Given the description of an element on the screen output the (x, y) to click on. 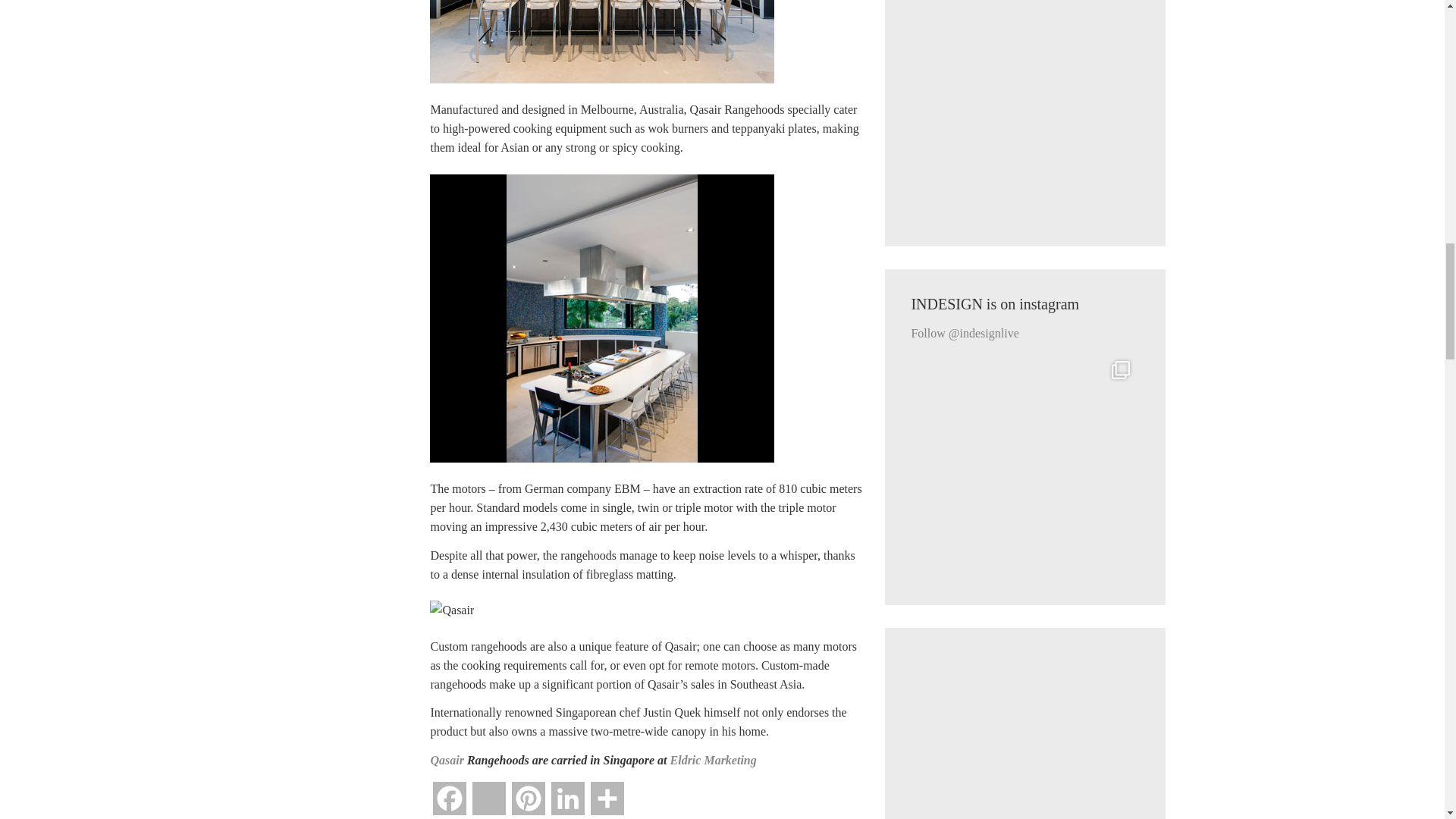
3rd party ad content (1024, 110)
Pinterest (528, 800)
Facebook (448, 800)
LinkedIn (568, 800)
Twitter (488, 800)
